Given the description of an element on the screen output the (x, y) to click on. 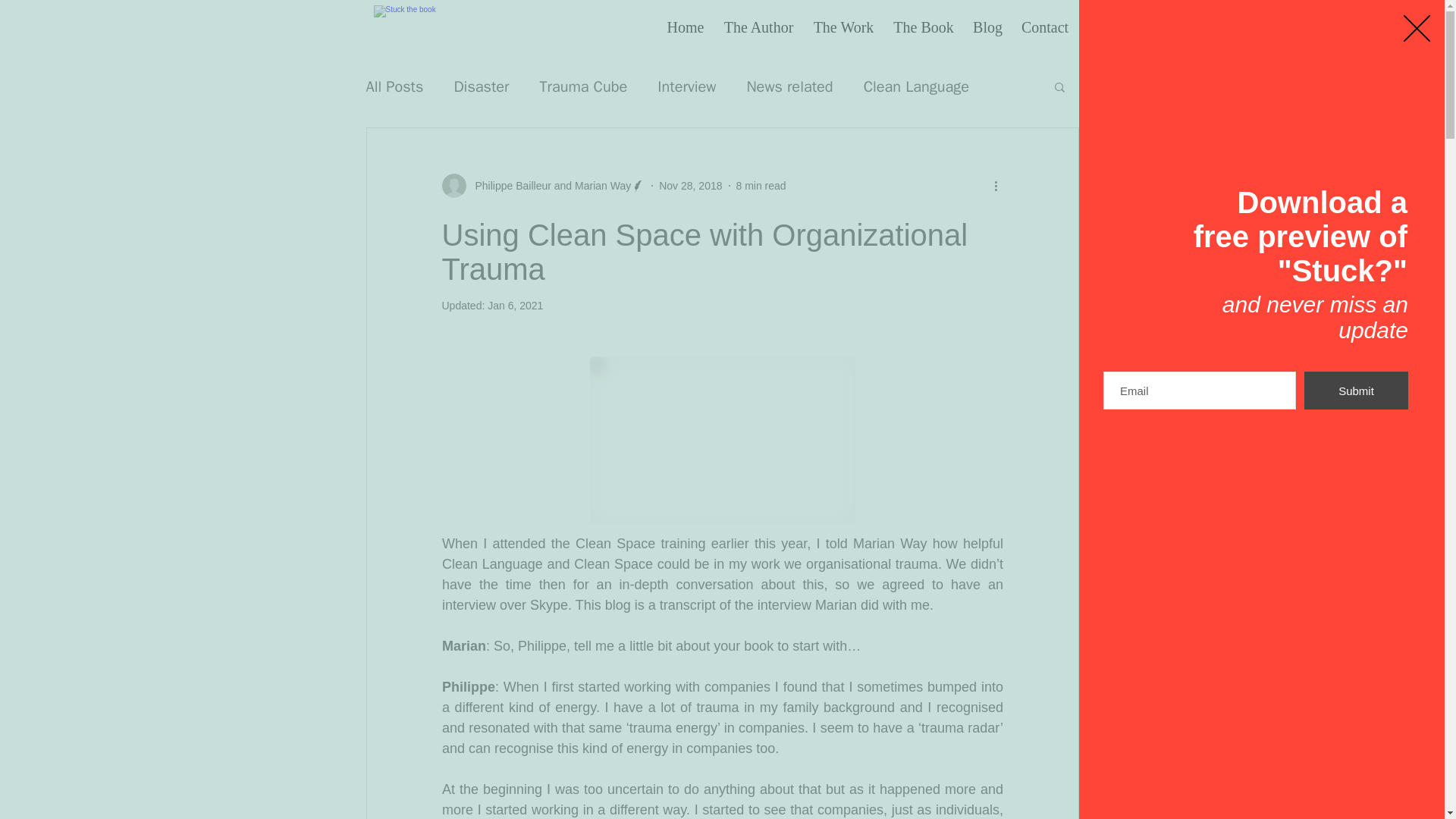
8 min read (760, 185)
Clean Language (916, 86)
The Work (843, 26)
Using Clean Space with Organizational Trauma (704, 251)
Blog (986, 26)
The Author (758, 26)
The Book (923, 26)
Disaster (480, 86)
Trauma Cube (583, 86)
Jan 6, 2021 (515, 305)
Nov 28, 2018 (690, 185)
Marian Way (888, 543)
Philippe Bailleur and Marian Way (547, 185)
Contact (1044, 26)
Home (684, 26)
